Given the description of an element on the screen output the (x, y) to click on. 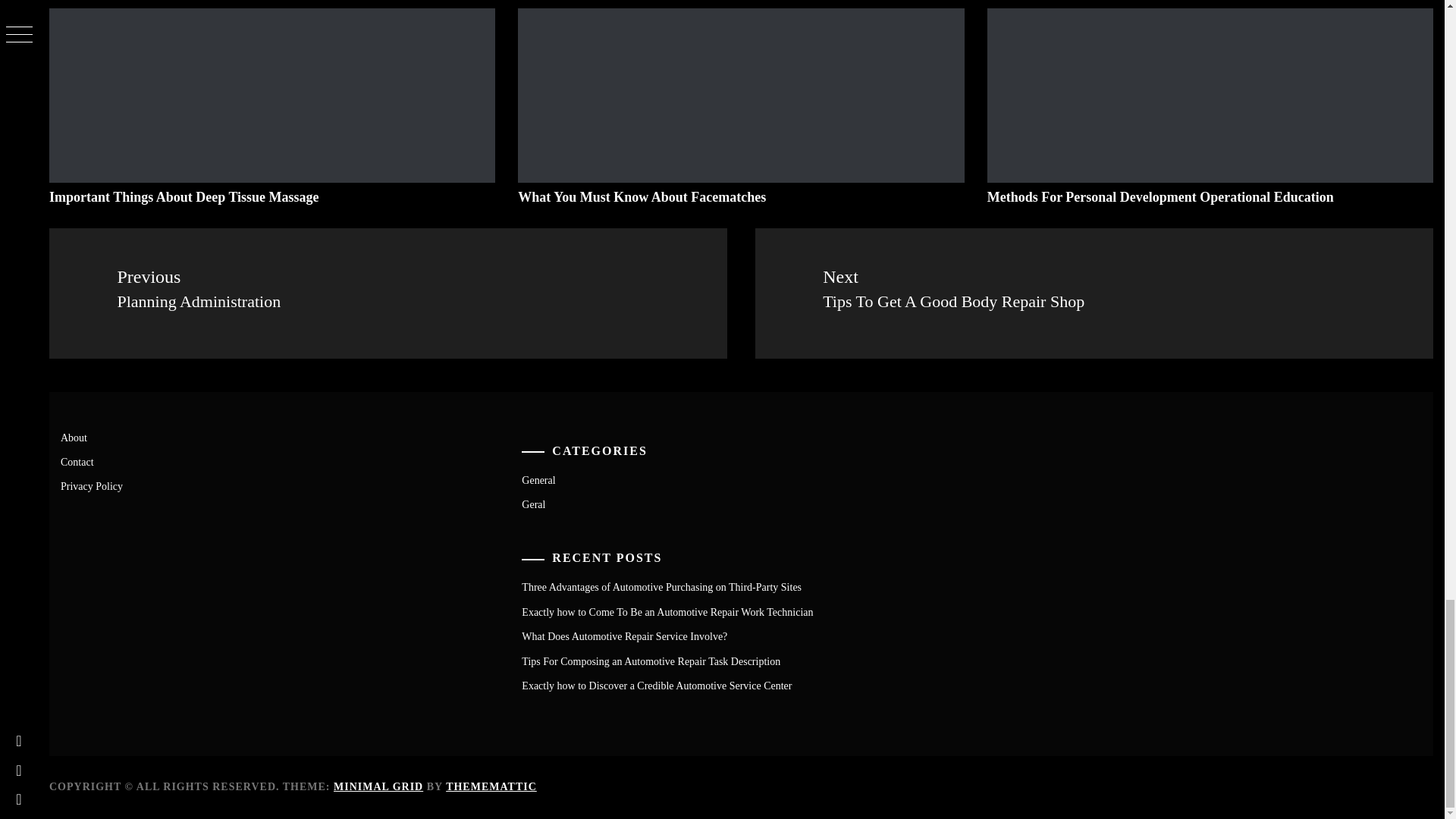
What You Must Know About Facematches (641, 196)
About (74, 437)
Contact (77, 461)
Important Things About Deep Tissue Massage (183, 196)
Methods For Personal Development Operational Education (1093, 292)
Geral (1160, 196)
